Given the description of an element on the screen output the (x, y) to click on. 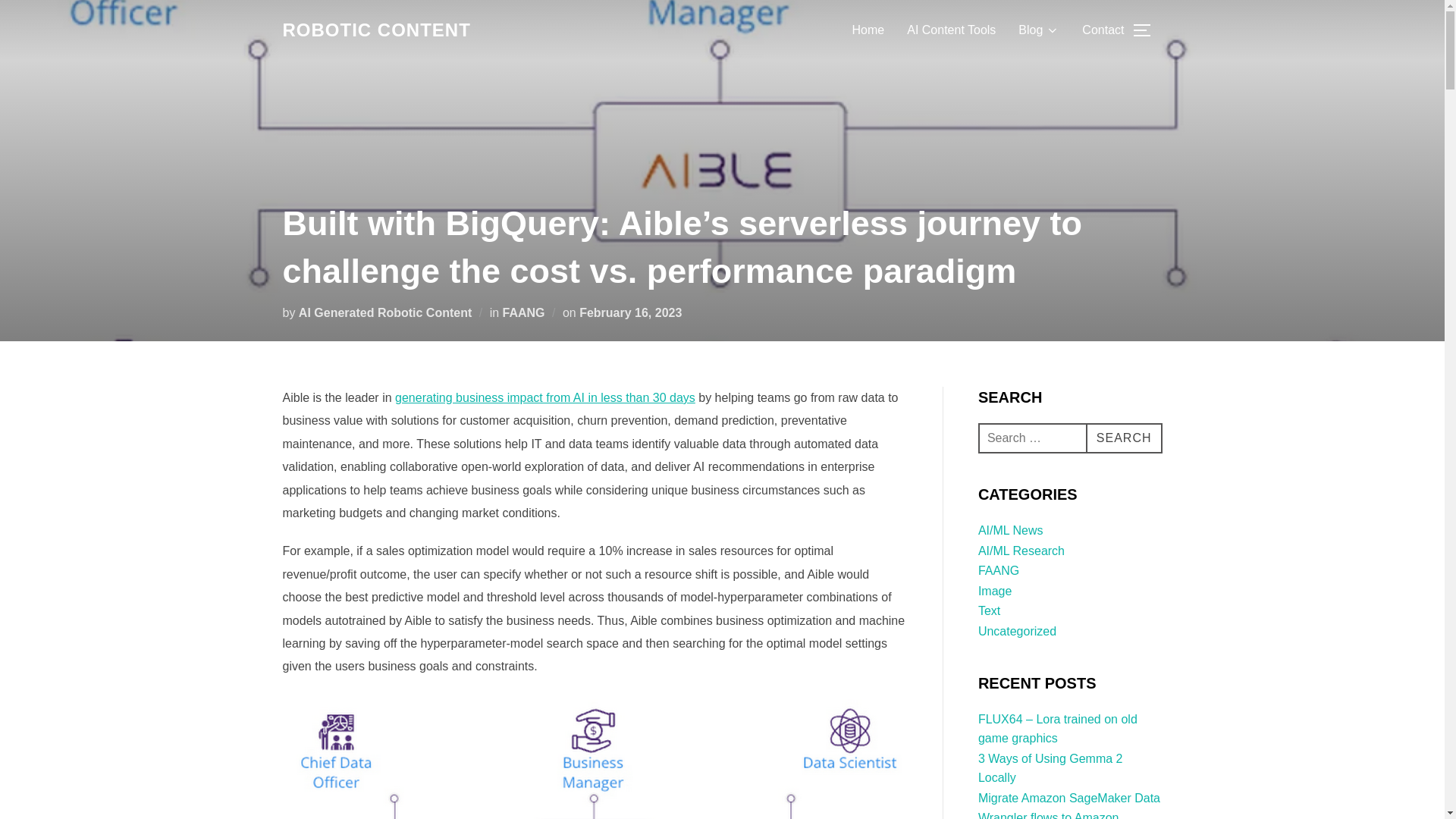
Contact (1102, 30)
Home (868, 30)
Generative Text, Images and Motion (376, 30)
Blog (1038, 30)
February 16, 2023 (630, 312)
generating business impact from AI in less than 30 days (544, 397)
AI Generated Robotic Content (384, 312)
FAANG (523, 312)
ROBOTIC CONTENT (376, 30)
AI Content Tools (951, 30)
